Given the description of an element on the screen output the (x, y) to click on. 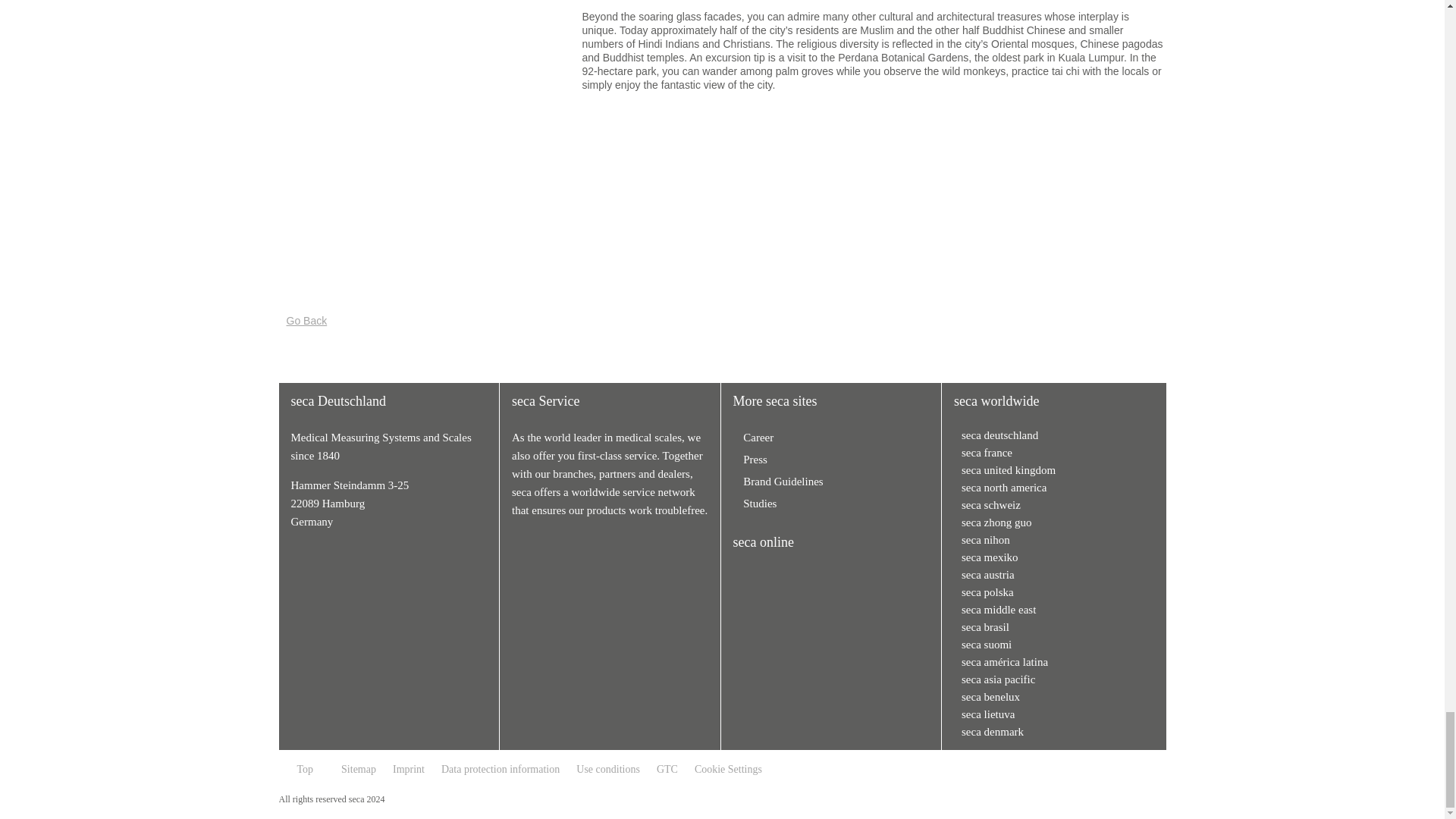
seca mexiko (1052, 557)
Press (751, 459)
seca polska (1052, 591)
seca middle east (1052, 609)
seca united kingdom (1052, 469)
Career (754, 437)
Brand Guidelines (778, 481)
seca brasil (1052, 626)
seca north america (1052, 487)
seca schweiz (1052, 504)
